Given the description of an element on the screen output the (x, y) to click on. 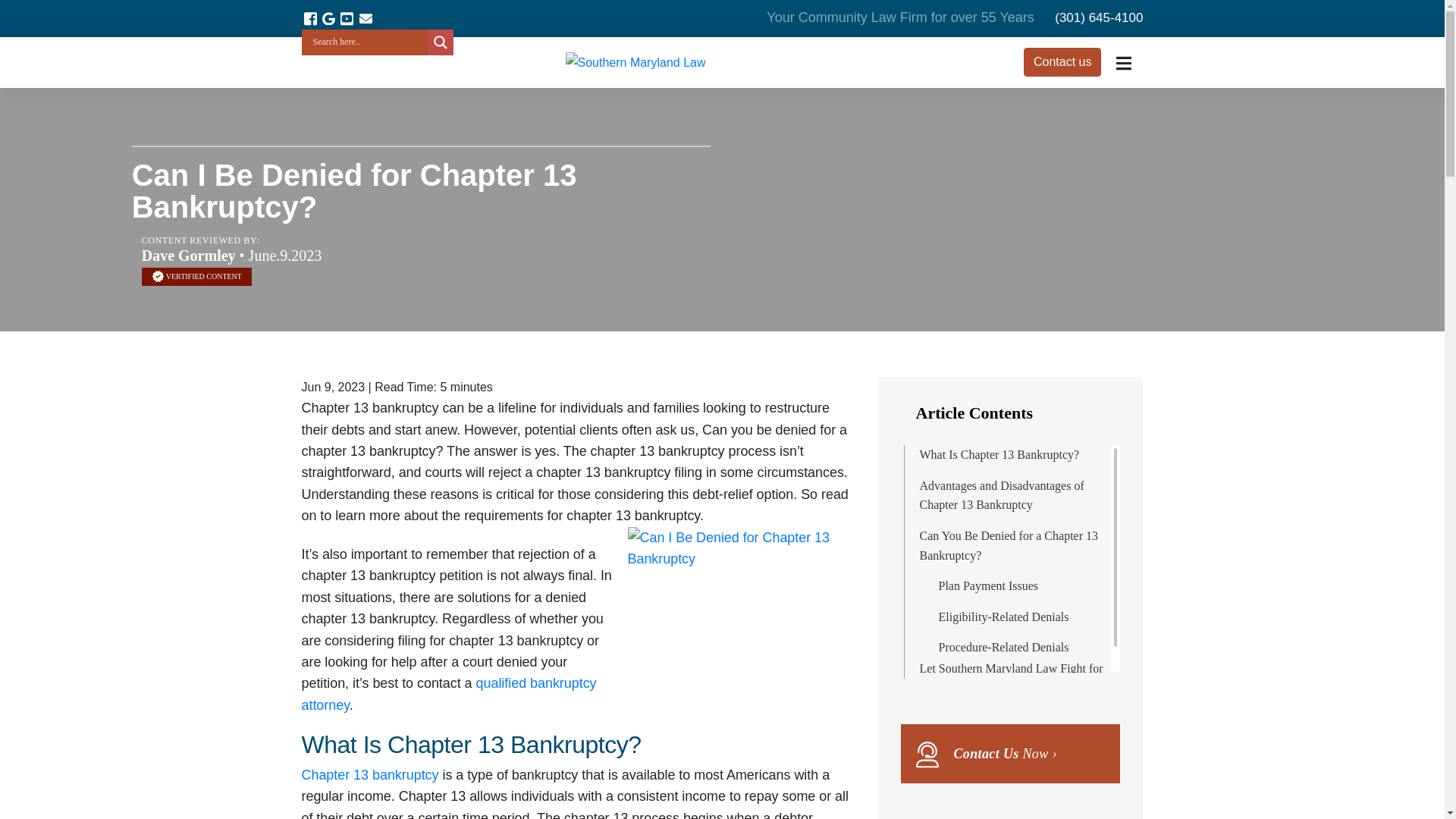
Contact us (1061, 61)
